Given the description of an element on the screen output the (x, y) to click on. 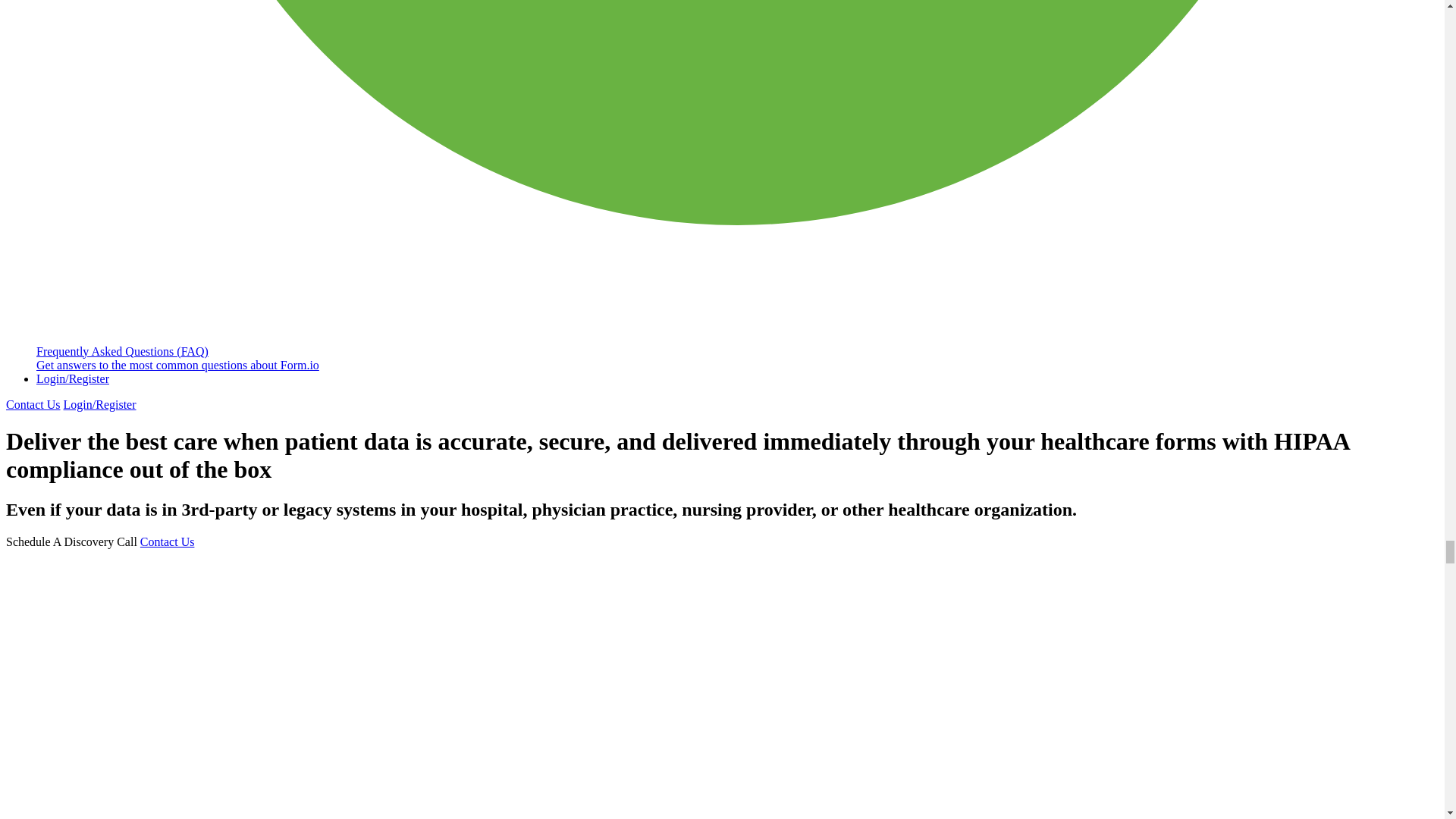
Contact Us (33, 404)
Schedule A Discovery Call (70, 541)
Contact Us (167, 541)
